Given the description of an element on the screen output the (x, y) to click on. 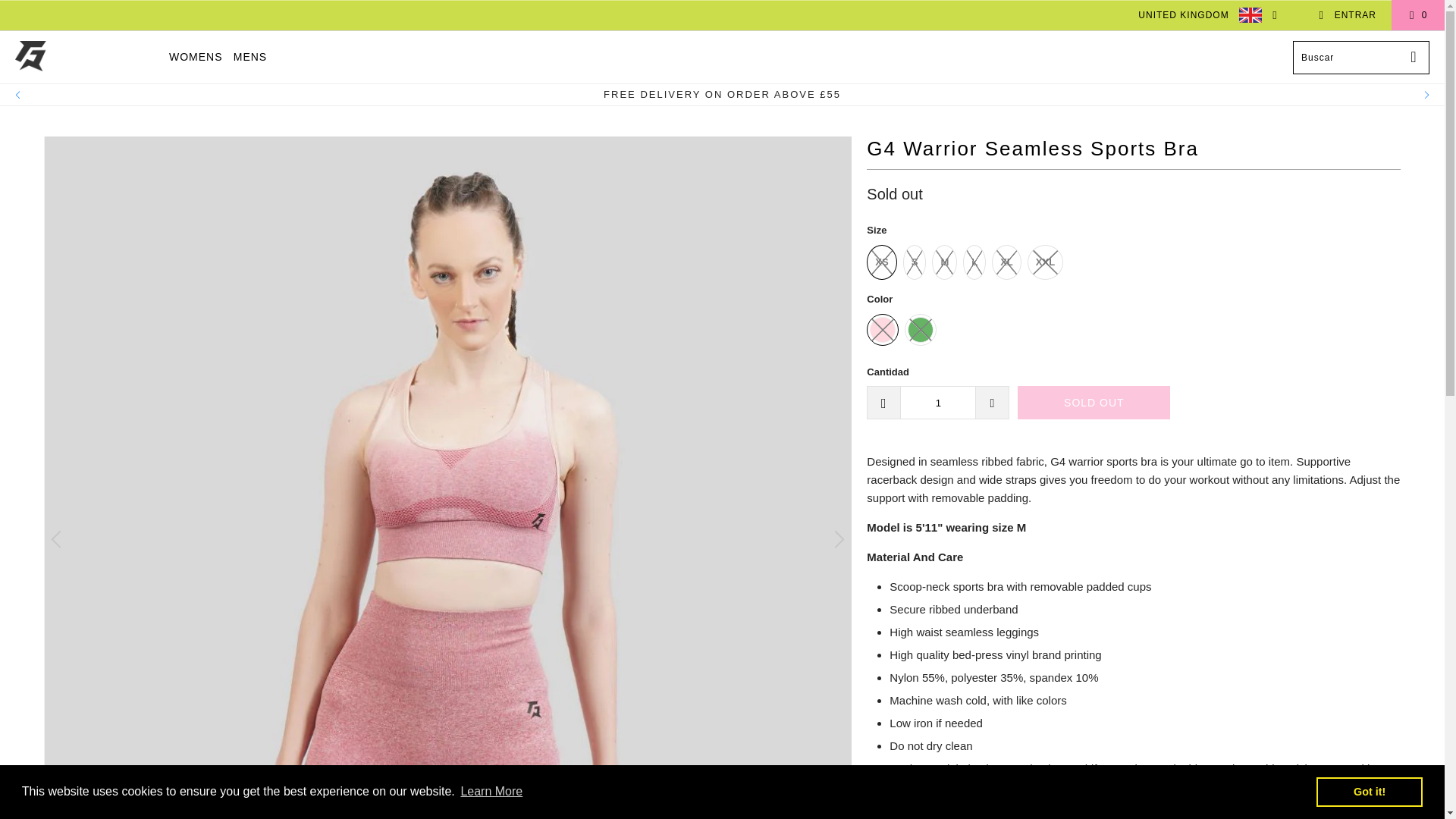
Learn More (491, 791)
Got it! (1369, 791)
ENTRAR (1347, 15)
WOMENS (195, 57)
Mi cuenta  (1347, 15)
MENS (249, 57)
1 (937, 402)
Gym Armour  (84, 57)
UNITED KINGDOM    (1203, 15)
